Given the description of an element on the screen output the (x, y) to click on. 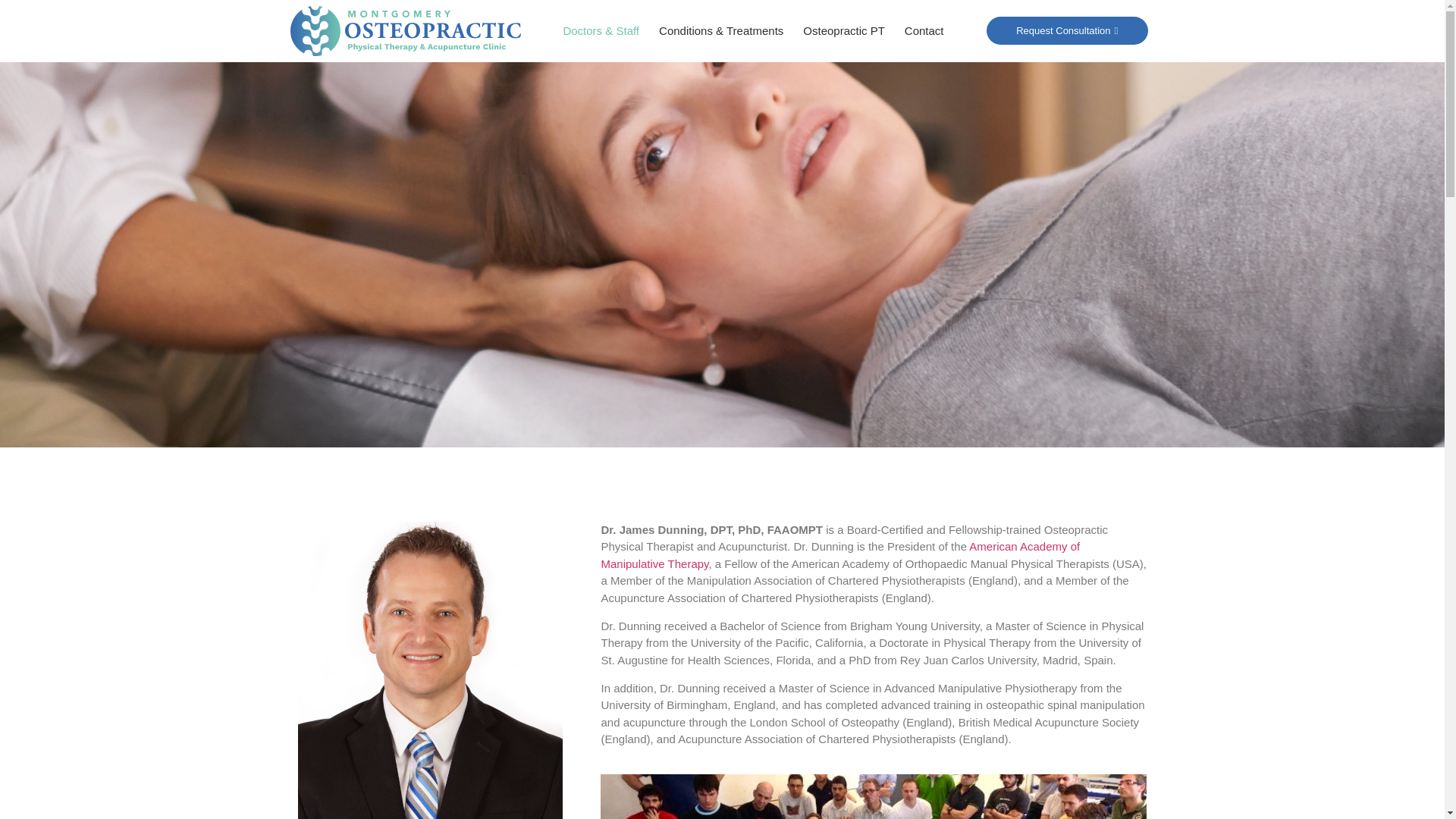
Osteopractic PT (844, 30)
Contact (924, 30)
American Academy of Manipulative Therapy (839, 554)
Request Consultation (1066, 30)
